Given the description of an element on the screen output the (x, y) to click on. 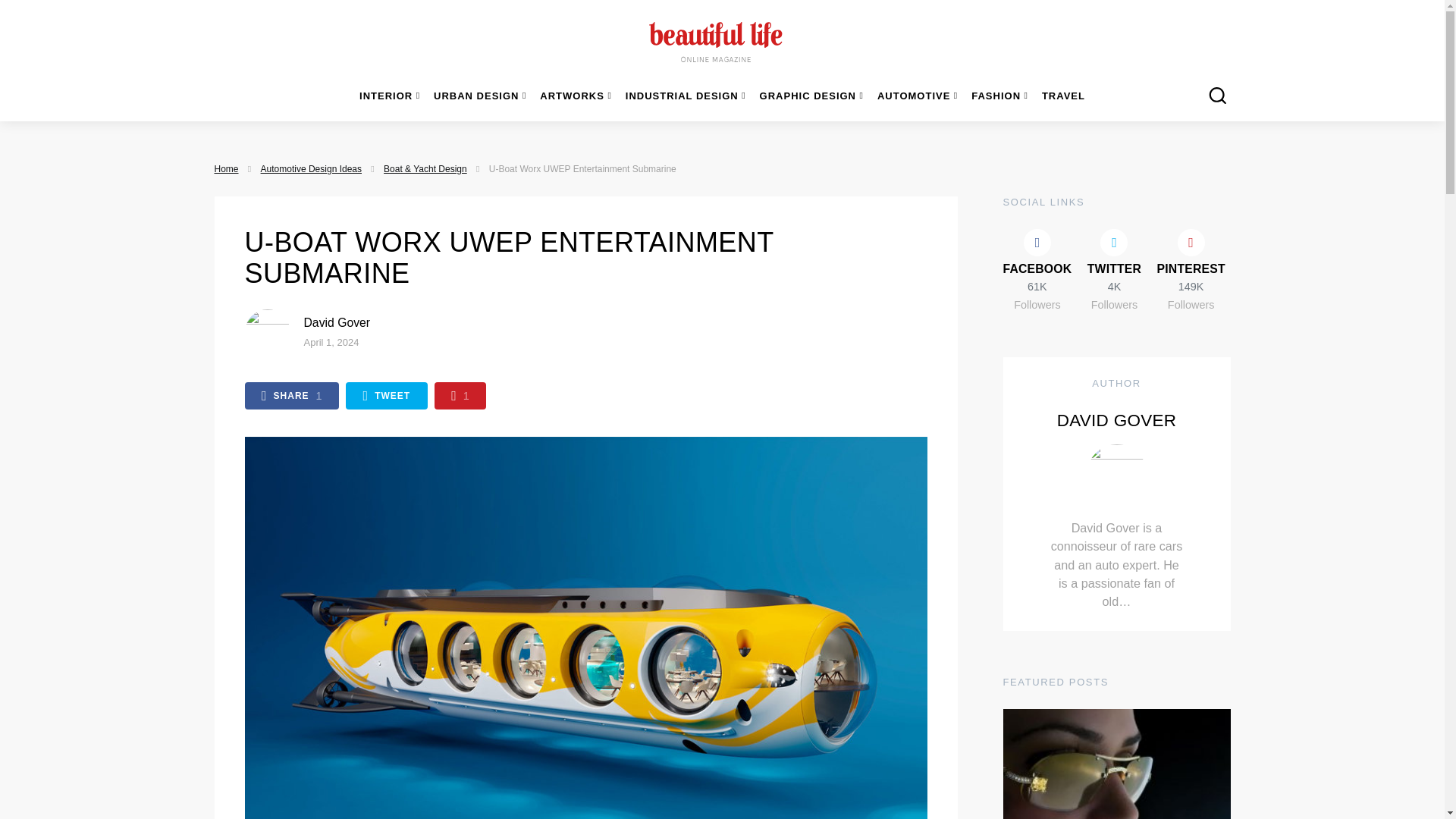
1 (459, 395)
DAVID GOVER (1116, 420)
TWEET (387, 395)
Top 10 Most Expensive Glasses in the World (291, 395)
David Gover (1116, 764)
U-Boat Worx UWEP Entertainment Submarine (335, 322)
